Given the description of an element on the screen output the (x, y) to click on. 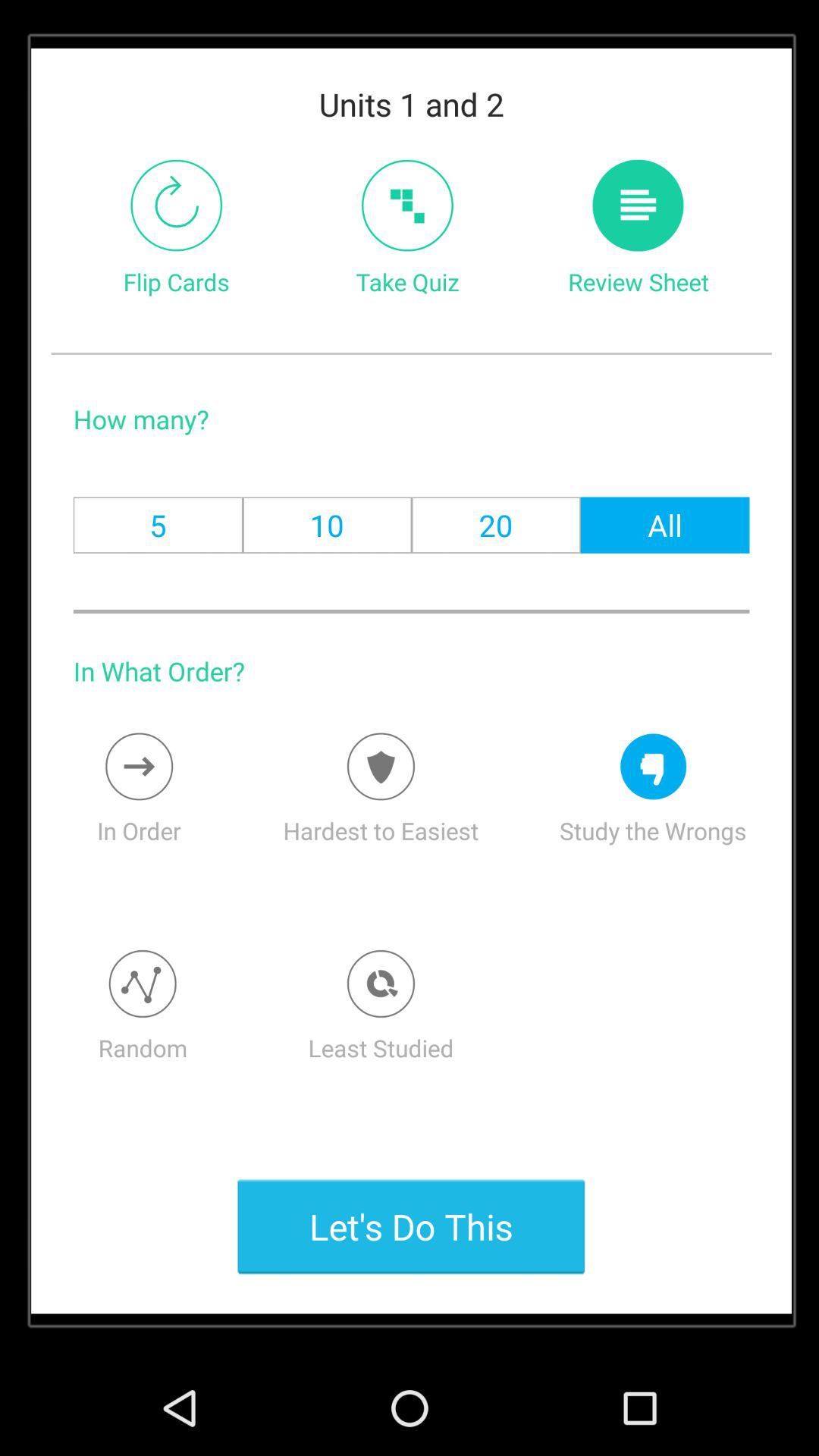
jump to the 20 (495, 525)
